Given the description of an element on the screen output the (x, y) to click on. 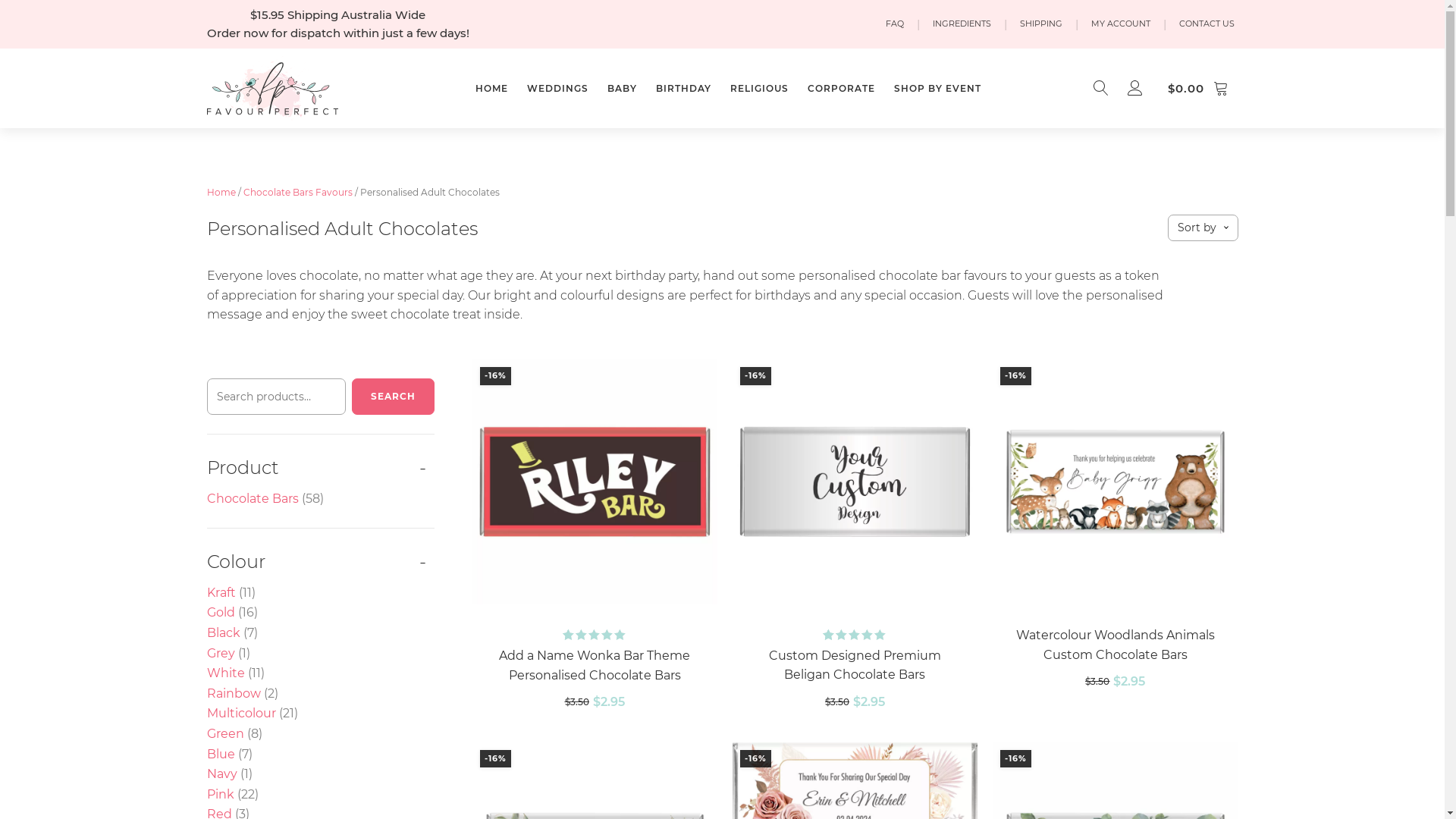
SEARCH Element type: text (392, 396)
Rainbow Element type: text (233, 693)
Home Element type: text (220, 191)
Blue Element type: text (220, 754)
Chocolate Bars Favours Element type: text (296, 191)
FAQ Element type: text (893, 23)
Chocolate Bars Element type: text (252, 498)
Watercolour Woodlands Animals Custom Chocolate Bars Element type: text (1114, 644)
White Element type: text (225, 672)
Multicolour Element type: text (240, 713)
INGREDIENTS Element type: text (961, 23)
Black Element type: text (222, 632)
Grey Element type: text (220, 653)
Custom Designed Premium Beligan Chocolate Bars Element type: text (854, 665)
Pink Element type: text (219, 794)
Kraft Element type: text (220, 592)
Add a Name Wonka Bar Theme Personalised Chocolate Bars Element type: text (593, 665)
HOME Element type: text (491, 88)
CORPORATE Element type: text (840, 88)
Green Element type: text (224, 733)
Navy Element type: text (221, 773)
Gold Element type: text (220, 612)
MY ACCOUNT Element type: text (1120, 23)
SHIPPING Element type: text (1041, 23)
CONTACT US Element type: text (1206, 23)
